Given the description of an element on the screen output the (x, y) to click on. 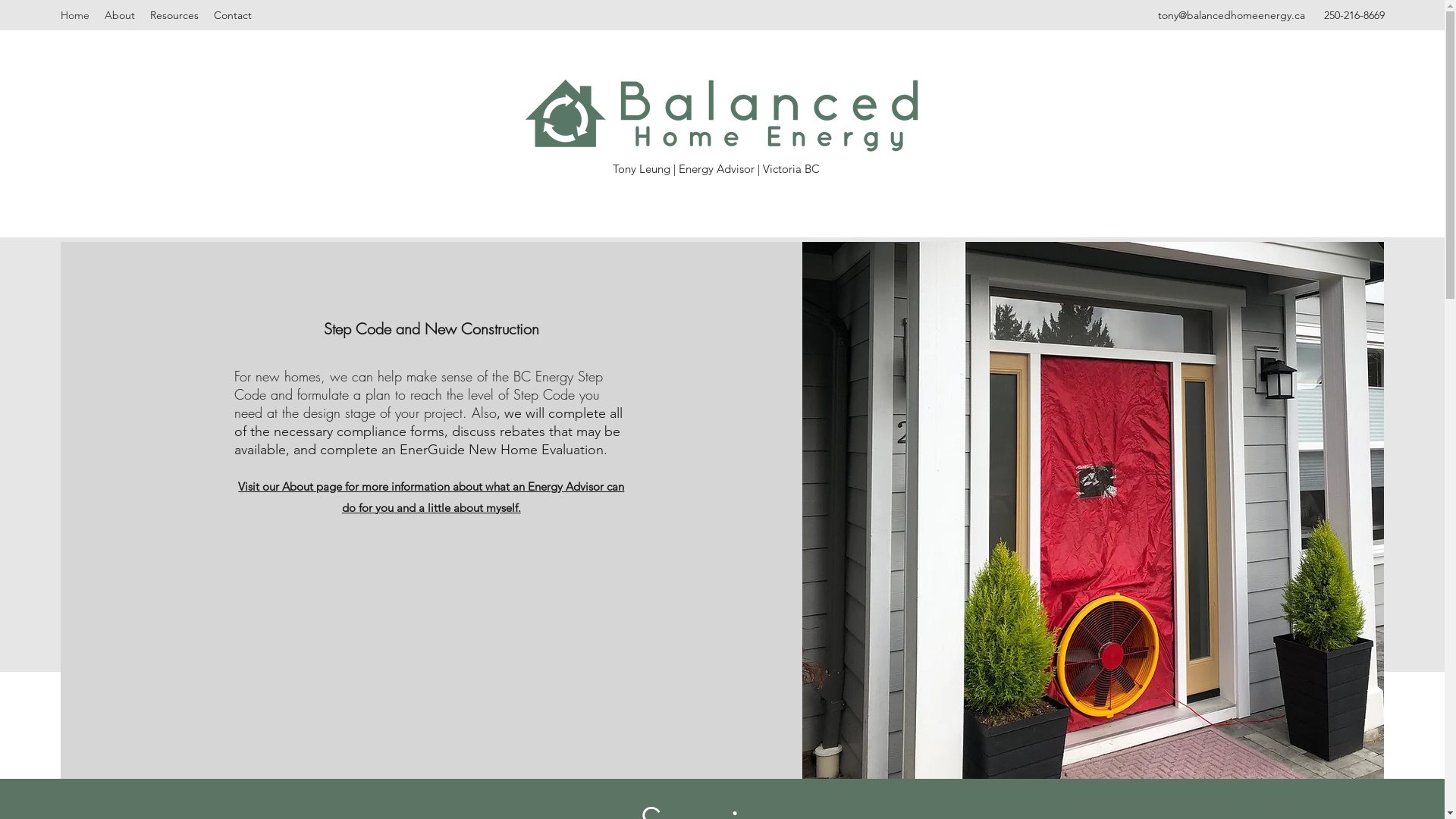
Contact Element type: text (232, 14)
Home Element type: text (75, 14)
About Element type: text (119, 14)
Resources Element type: text (174, 14)
tony@balancedhomeenergy.ca Element type: text (1230, 14)
